Given the description of an element on the screen output the (x, y) to click on. 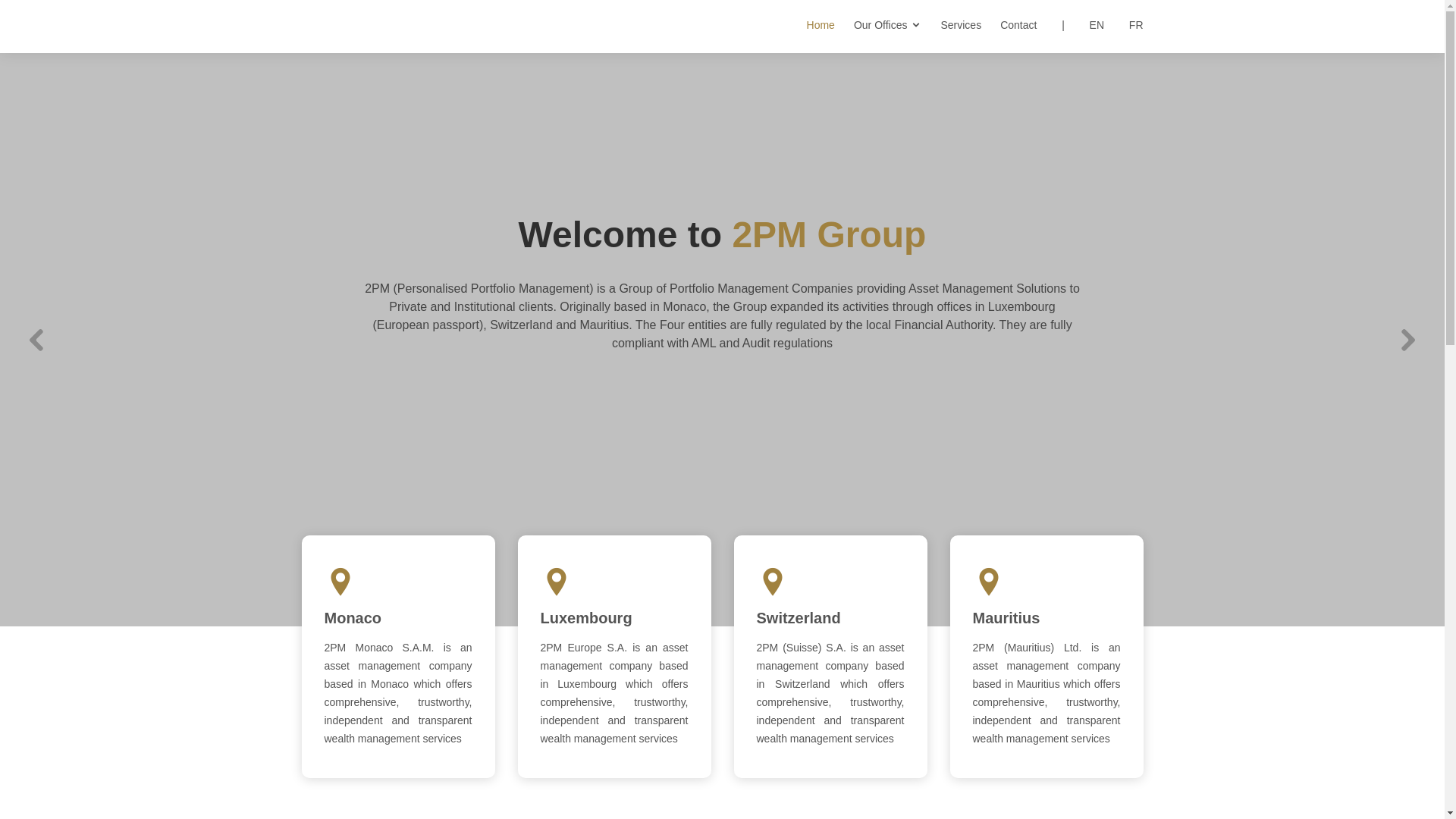
Mauritius Element type: text (1005, 617)
  EN Element type: text (1084, 25)
Home Element type: text (810, 25)
Contact Element type: text (1008, 25)
Monaco Element type: text (353, 617)
Services Element type: text (951, 25)
Next Element type: text (1408, 339)
  FR Element type: text (1123, 25)
Switzerland Element type: text (798, 617)
  | Element type: text (1049, 25)
Our Offices Element type: text (878, 25)
Previous Element type: text (36, 339)
Luxembourg Element type: text (585, 617)
